Given the description of an element on the screen output the (x, y) to click on. 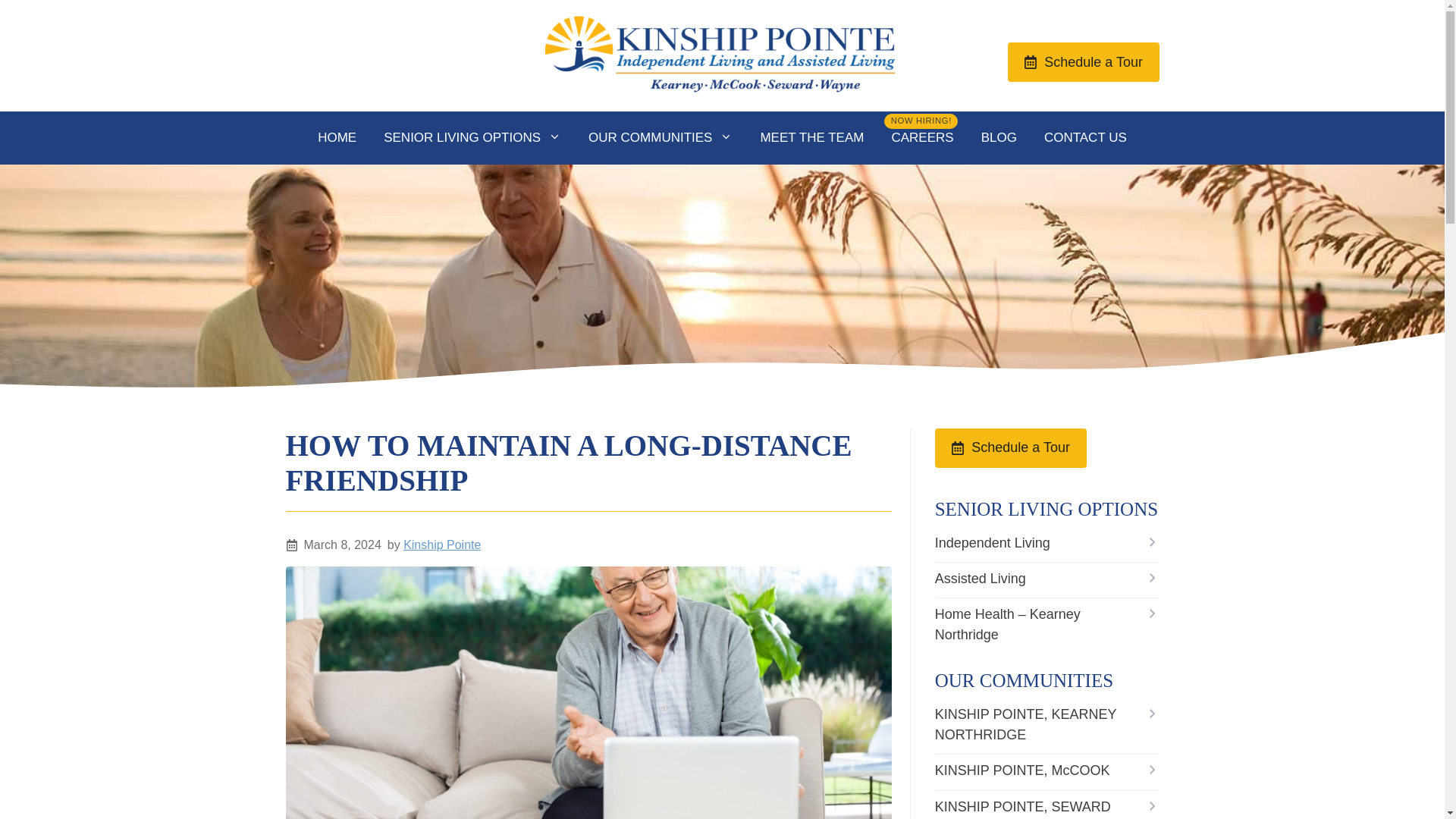
OUR COMMUNITIES (660, 137)
BLOG (999, 137)
HOME (336, 137)
CAREERS (921, 137)
MEET THE TEAM (811, 137)
SENIOR LIVING OPTIONS (472, 137)
Schedule a Tour (1082, 61)
CONTACT US (1085, 137)
Kinship Pointe (441, 544)
